Given the description of an element on the screen output the (x, y) to click on. 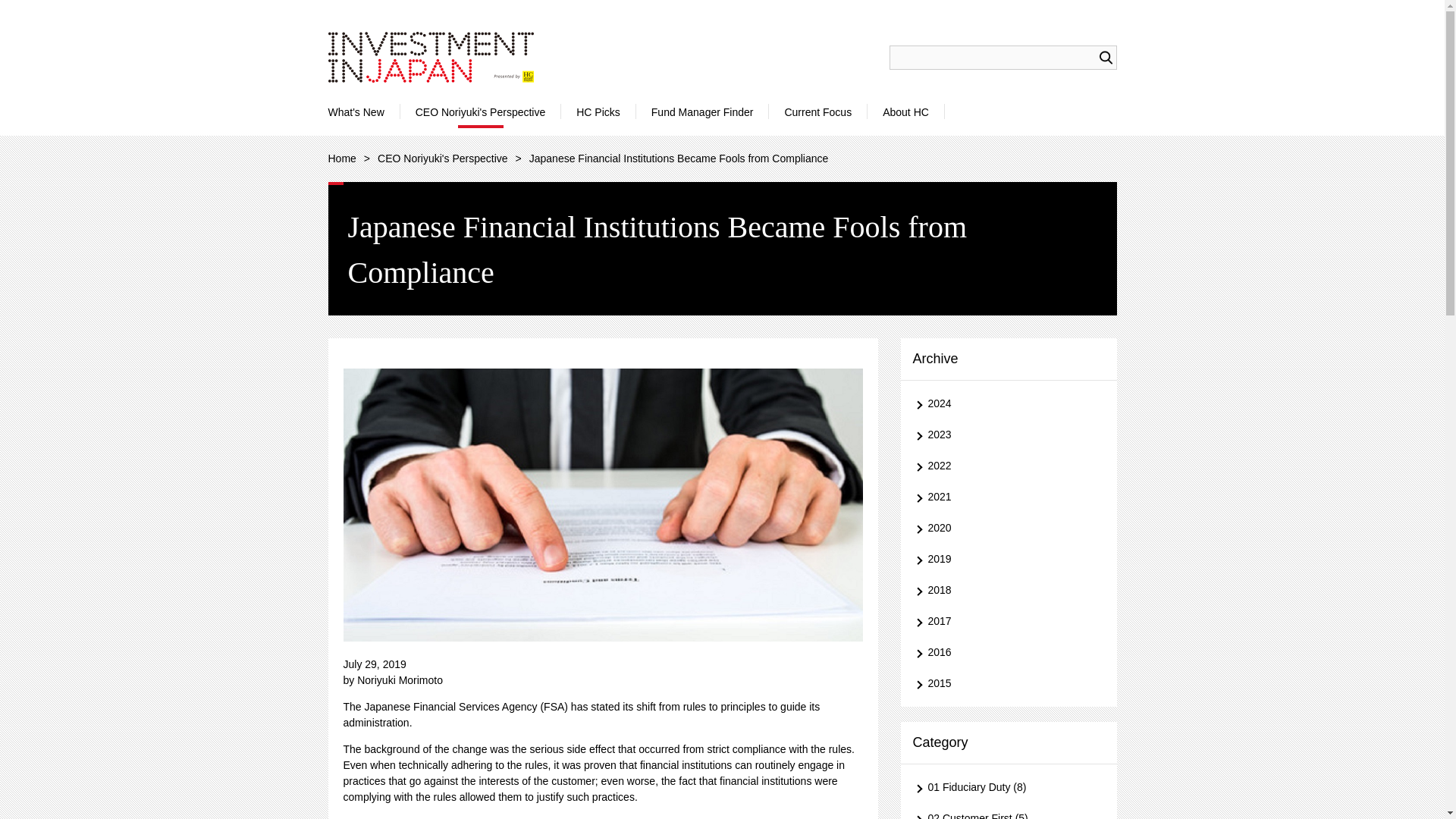
HC Picks (598, 110)
2020 (1008, 528)
2019 (1008, 559)
2015 (1008, 683)
Current Focus (817, 110)
CEO Noriyuki's Perspective (480, 110)
2023 (1008, 434)
About HC (905, 110)
Fund Manager Finder (702, 110)
2021 (1008, 496)
What's New (355, 110)
2024 (1008, 403)
2018 (1008, 590)
CEO Noriyuki's Perspective (442, 158)
Home (341, 158)
